Given the description of an element on the screen output the (x, y) to click on. 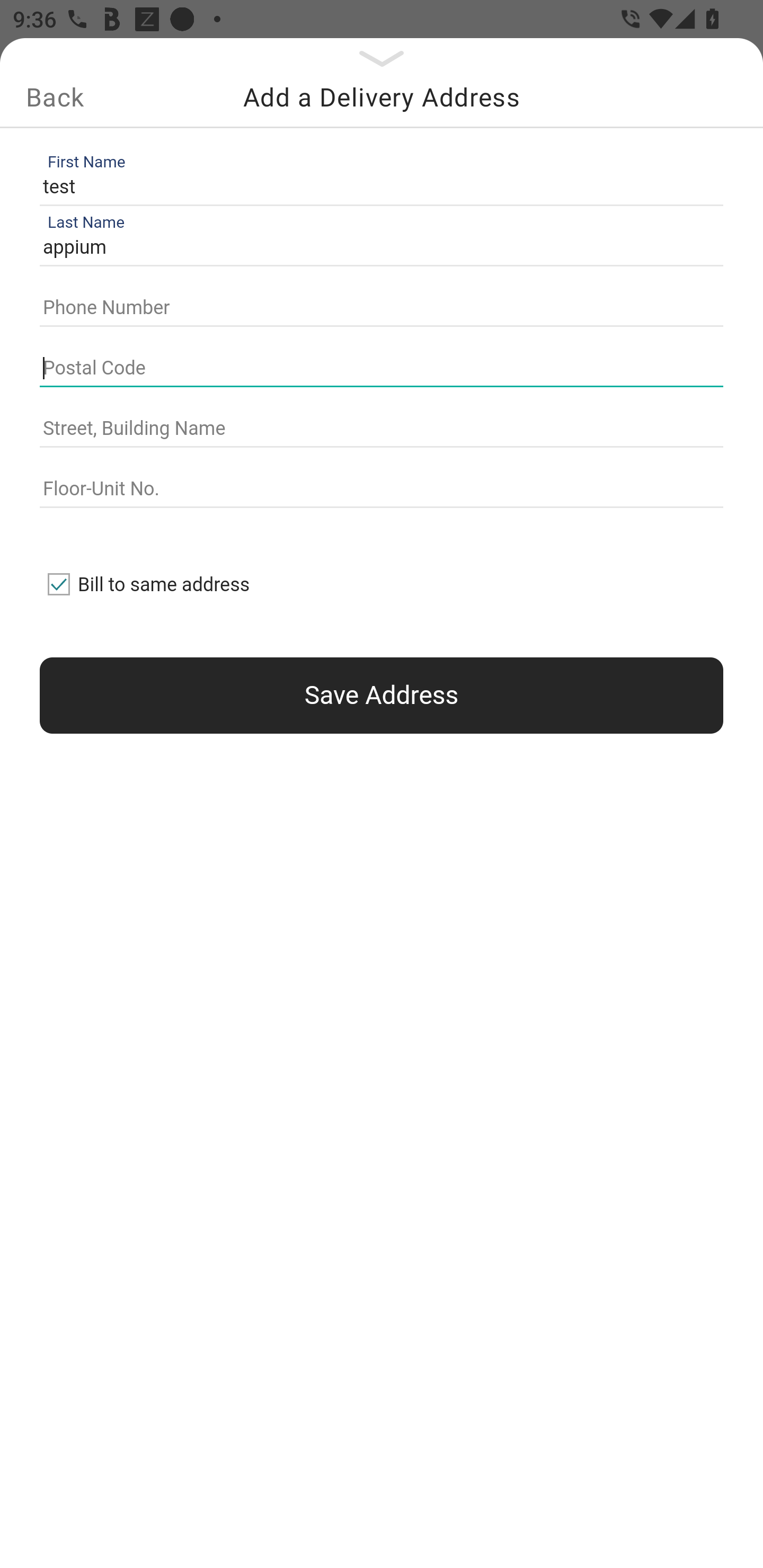
Back (54, 96)
Add a Delivery Address (381, 96)
test (377, 186)
appium (377, 247)
Save Address (381, 694)
